Given the description of an element on the screen output the (x, y) to click on. 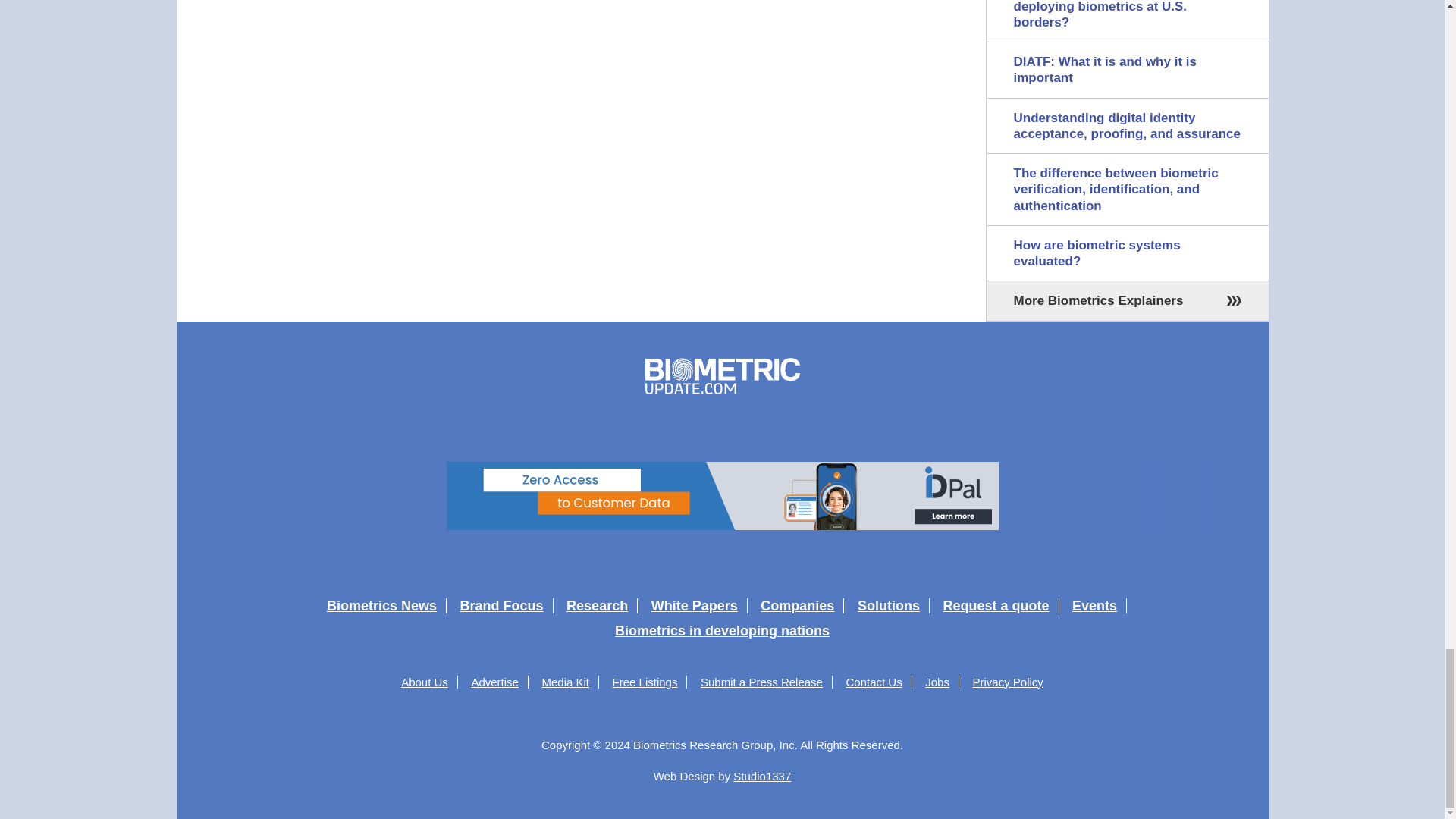
3rd party ad content (721, 495)
